Given the description of an element on the screen output the (x, y) to click on. 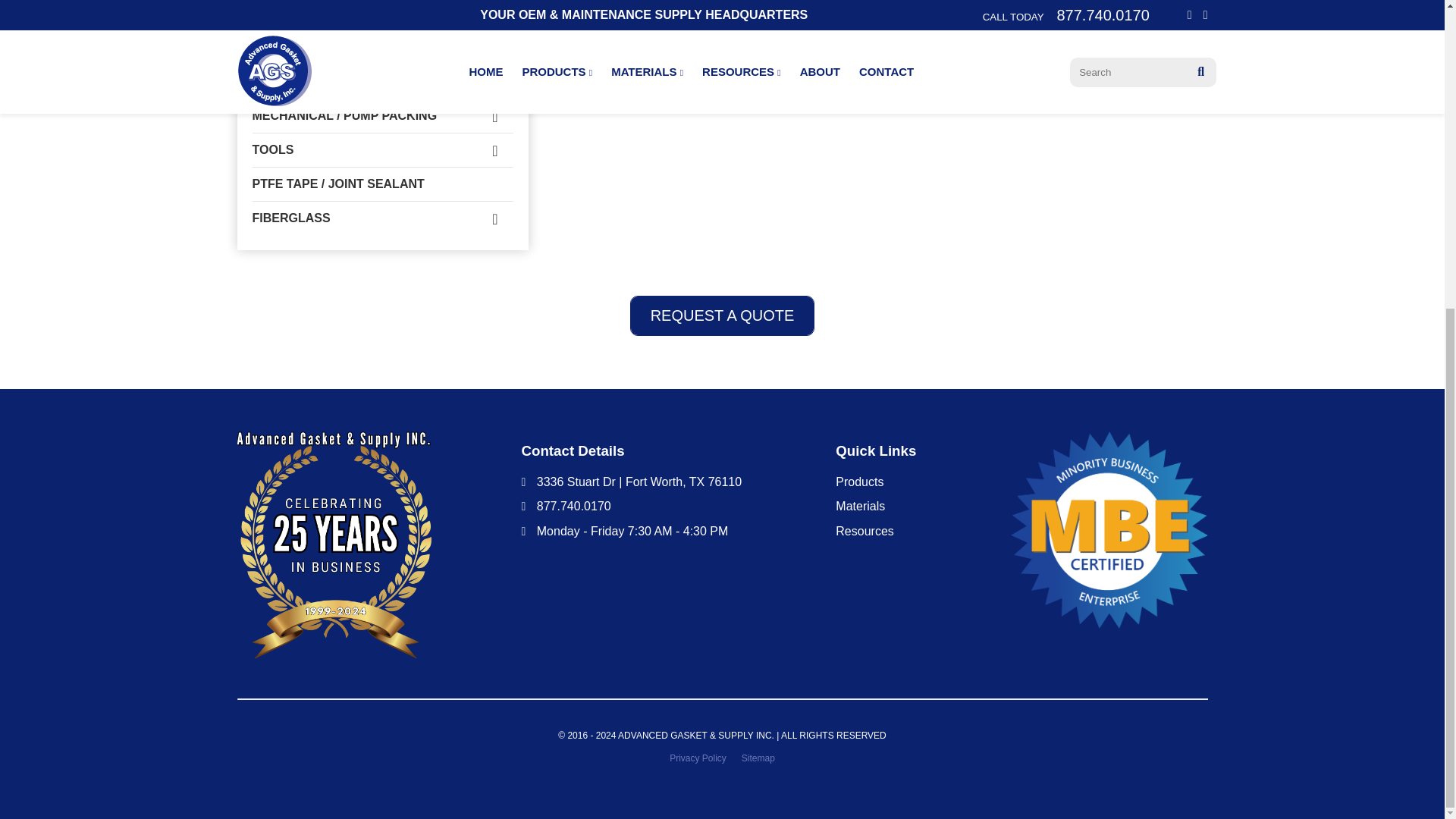
TOOLS (381, 150)
METAL GASKETS (381, 15)
O-RINGS (381, 81)
